Given the description of an element on the screen output the (x, y) to click on. 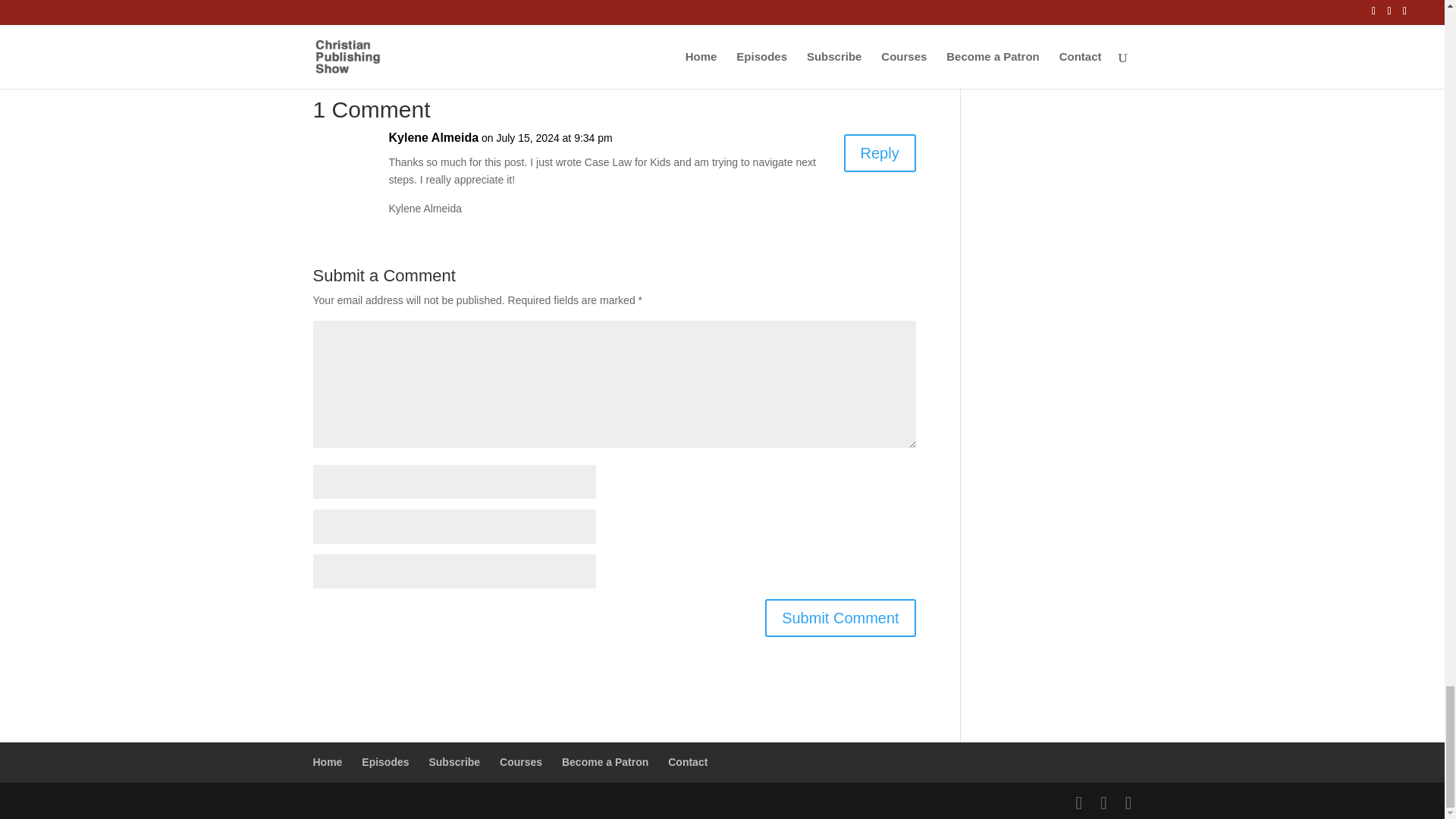
Submit Comment (840, 617)
join by visiting my Patreon page (606, 22)
Reply (879, 152)
learn more about the mastermind groups here (461, 13)
Kylene Almeida (433, 137)
Submit Comment (840, 617)
